Given the description of an element on the screen output the (x, y) to click on. 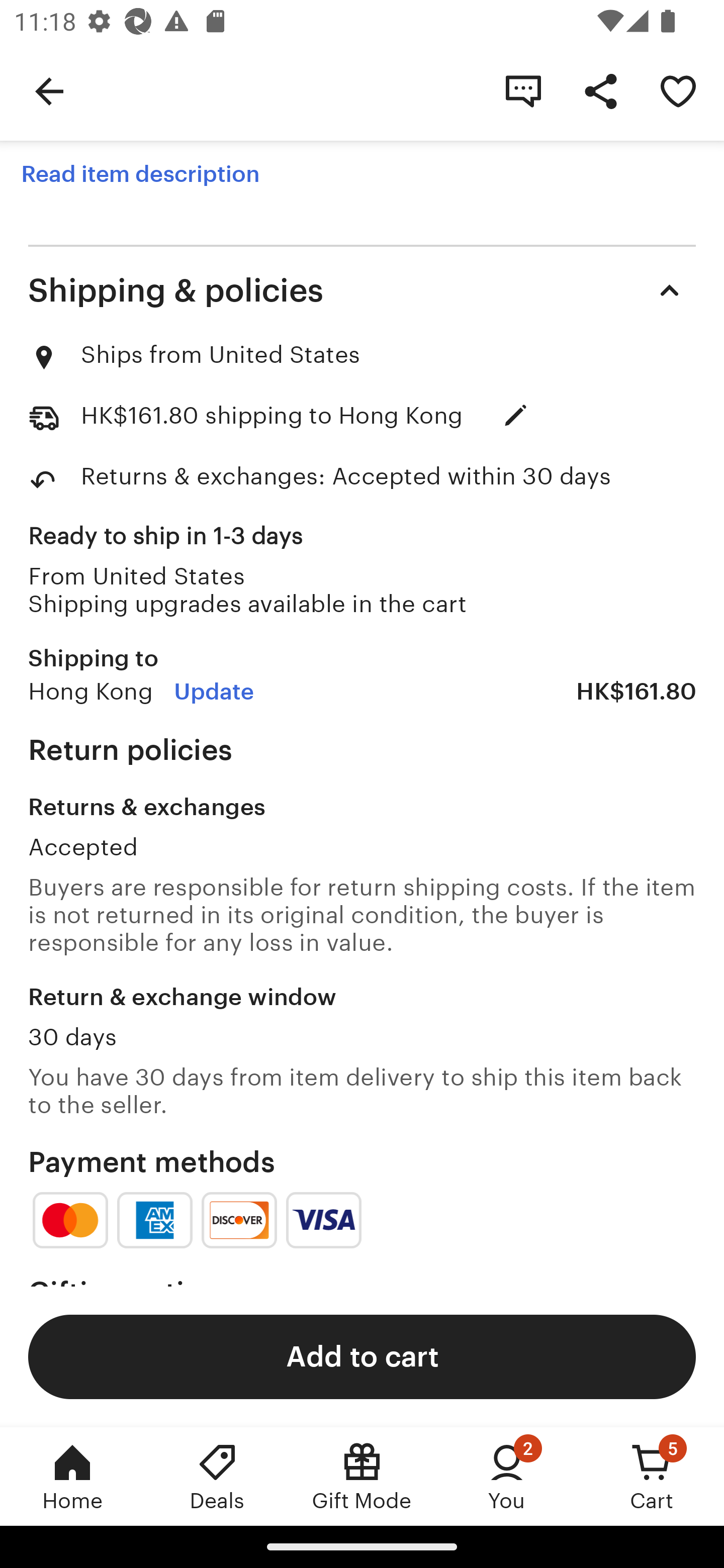
Navigate up (49, 90)
Contact shop (523, 90)
Share (600, 90)
Read item description (140, 173)
Shipping & policies (362, 289)
Update (515, 415)
Update (213, 691)
Add to cart (361, 1355)
Deals (216, 1475)
Gift Mode (361, 1475)
You, 2 new notifications You (506, 1475)
Cart, 5 new notifications Cart (651, 1475)
